Given the description of an element on the screen output the (x, y) to click on. 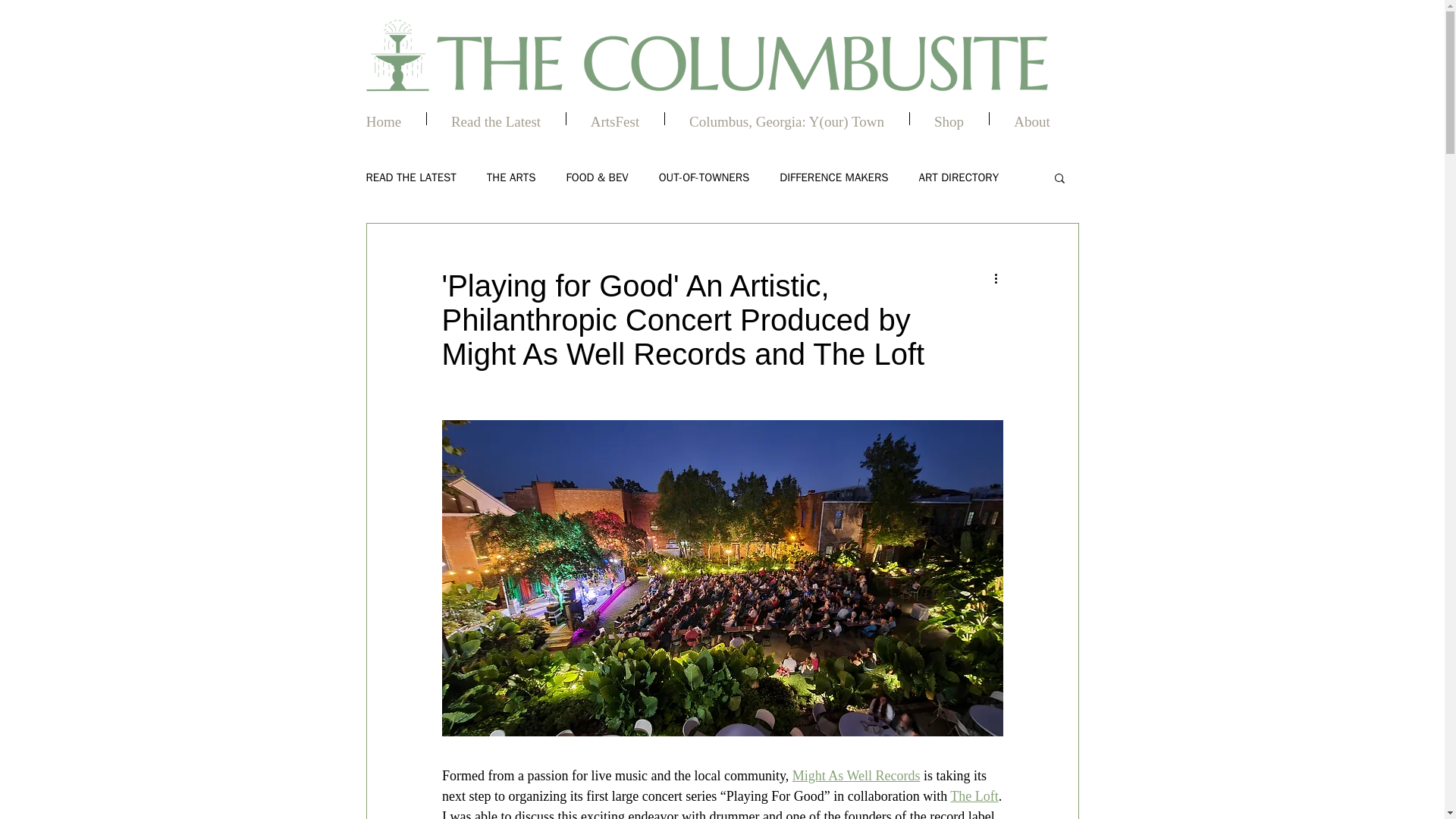
About (1031, 118)
Might As Well Records (856, 775)
THE ARTS (510, 176)
Read the Latest (495, 118)
The Loft (973, 795)
Shop (949, 118)
READ THE LATEST (410, 176)
DIFFERENCE MAKERS (833, 176)
OUT-OF-TOWNERS (704, 176)
Home (382, 118)
ArtsFest (614, 118)
ART DIRECTORY (958, 176)
